Given the description of an element on the screen output the (x, y) to click on. 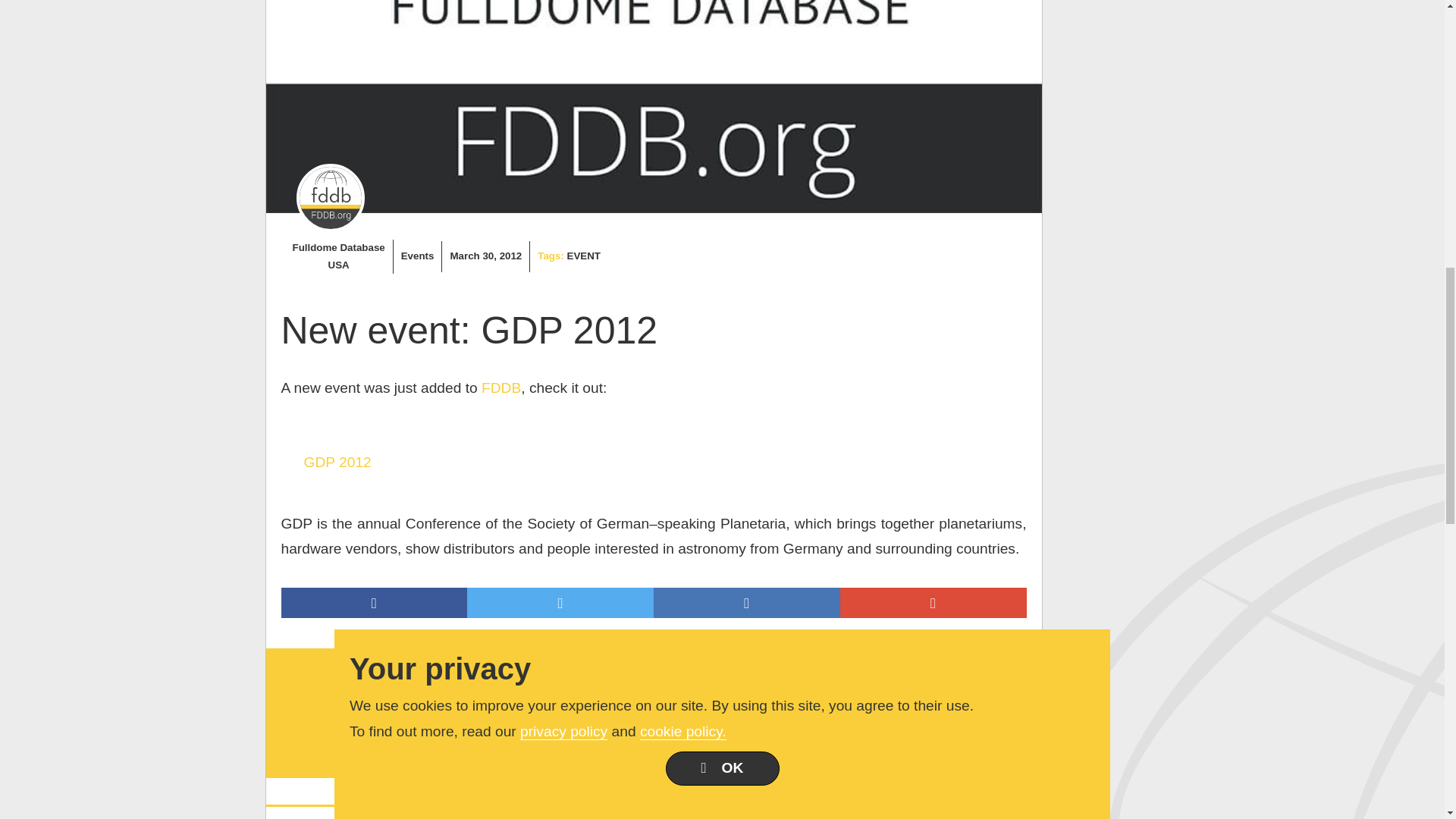
FDDB - The Fulldome Database (501, 387)
Fulldome Database-Fulldomer (329, 197)
